Given the description of an element on the screen output the (x, y) to click on. 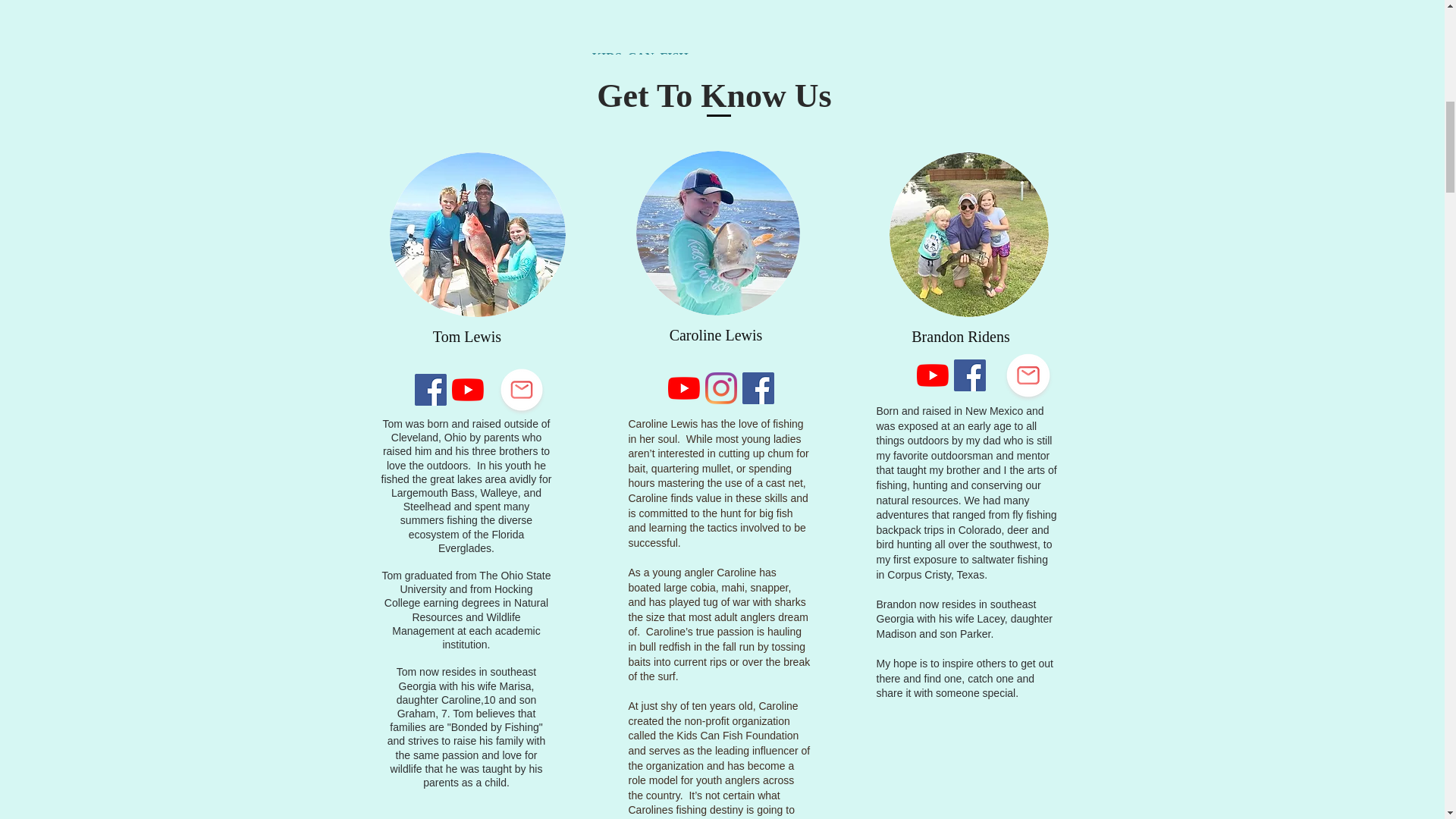
guy3.jpg (968, 234)
guy2.jpg (478, 234)
guy4.jpg (716, 232)
